Given the description of an element on the screen output the (x, y) to click on. 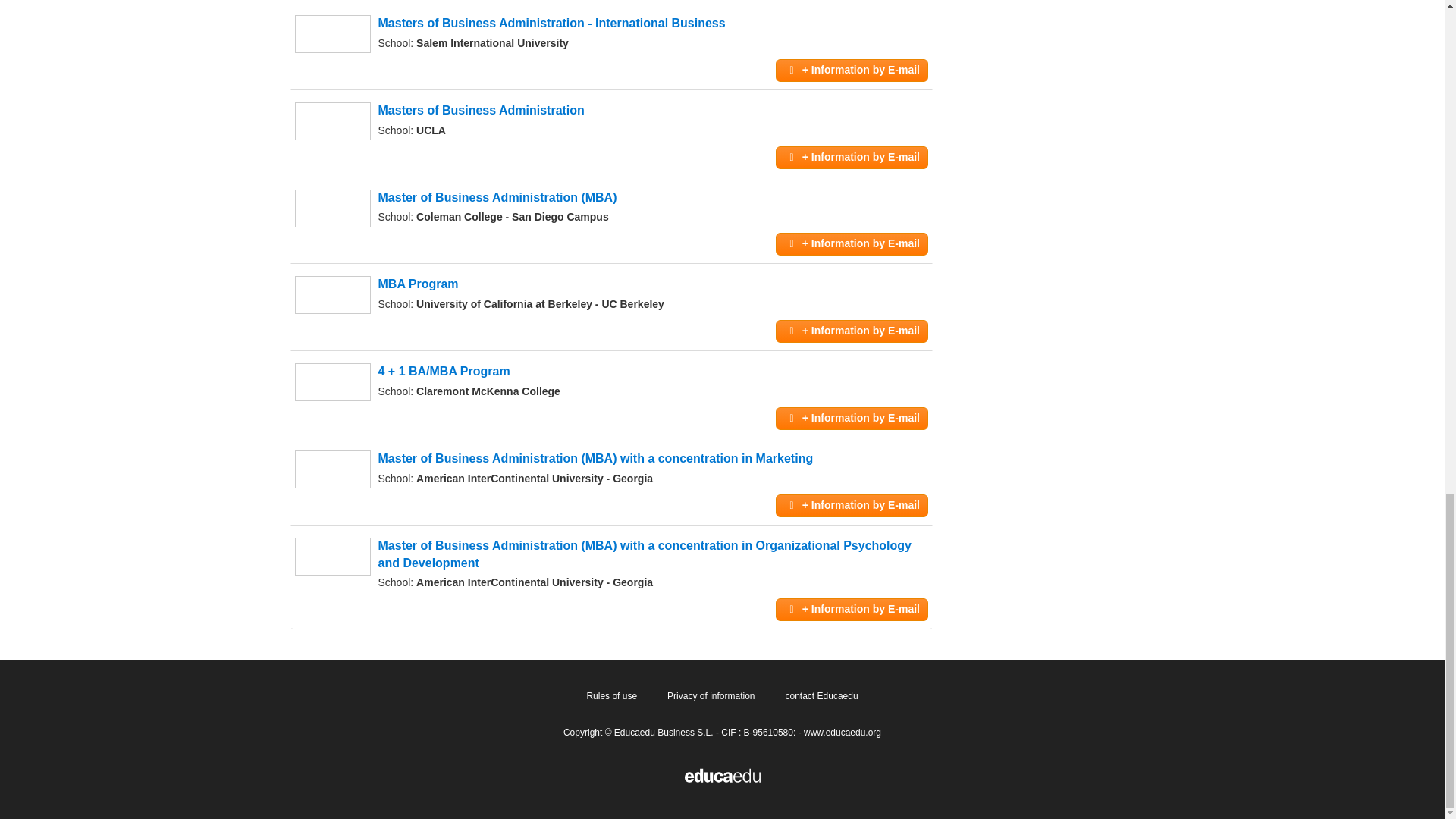
Masters of Business Administration - International Business (551, 22)
Masters of Business Administration (480, 110)
